Given the description of an element on the screen output the (x, y) to click on. 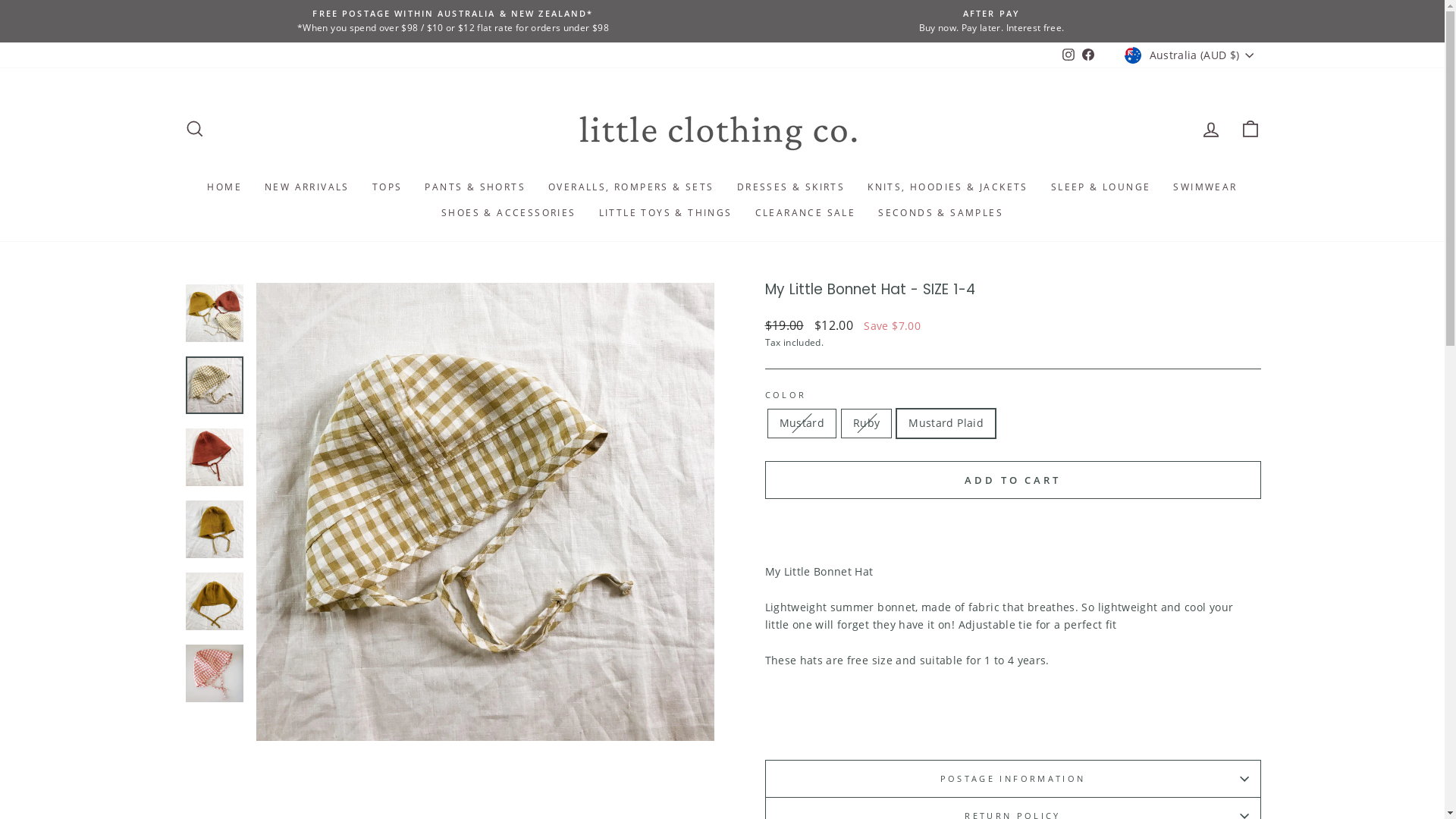
SECONDS & SAMPLES Element type: text (940, 212)
SLEEP & LOUNGE Element type: text (1100, 187)
LITTLE TOYS & THINGS Element type: text (665, 212)
Facebook Element type: text (1088, 54)
OVERALLS, ROMPERS & SETS Element type: text (630, 187)
NEW ARRIVALS Element type: text (306, 187)
KNITS, HOODIES & JACKETS Element type: text (947, 187)
SWIMWEAR Element type: text (1204, 187)
Australia (AUD $) Element type: text (1190, 54)
POSTAGE INFORMATION Element type: text (1012, 778)
ACCOUNT
LOG IN Element type: text (1210, 128)
CLEARANCE SALE Element type: text (805, 212)
HOME Element type: text (224, 187)
ICON-SEARCH
SEARCH Element type: text (193, 128)
DRESSES & SKIRTS Element type: text (790, 187)
ADD TO CART Element type: text (1012, 479)
ICON-BAG-MINIMAL
CART Element type: text (1249, 128)
TOPS Element type: text (387, 187)
SHOES & ACCESSORIES Element type: text (508, 212)
PANTS & SHORTS Element type: text (474, 187)
instagram
Instagram Element type: text (1068, 54)
